Given the description of an element on the screen output the (x, y) to click on. 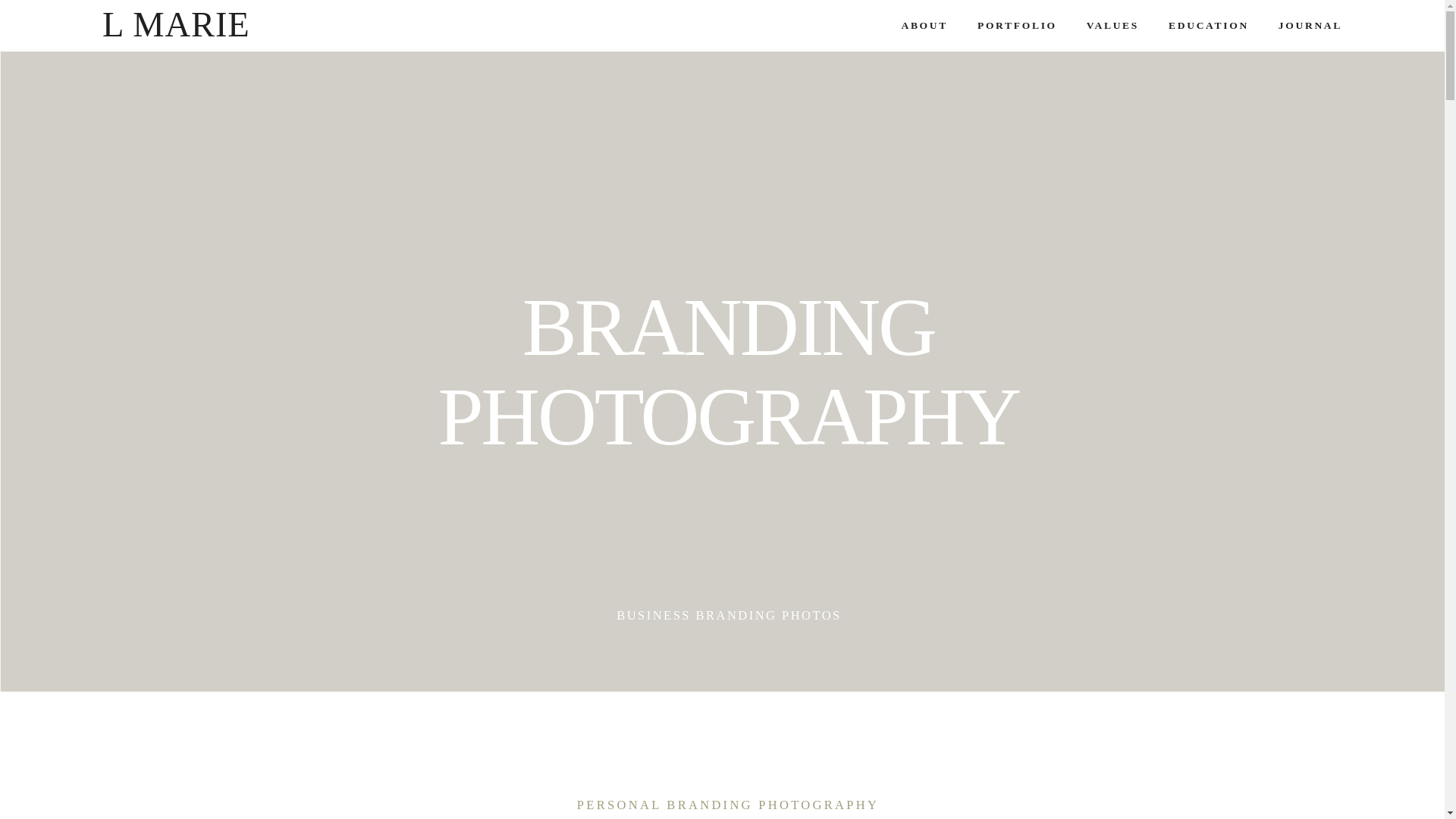
EDUCATION (1209, 25)
VALUES (1112, 25)
L MARIE (175, 25)
PORTFOLIO (1016, 25)
ABOUT (924, 25)
JOURNAL (1310, 25)
